Given the description of an element on the screen output the (x, y) to click on. 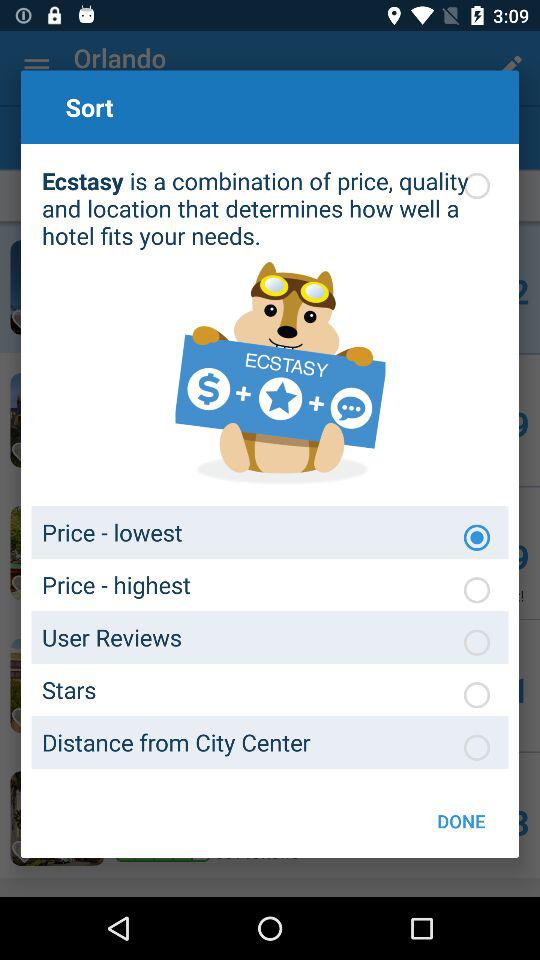
press the done (461, 820)
